Given the description of an element on the screen output the (x, y) to click on. 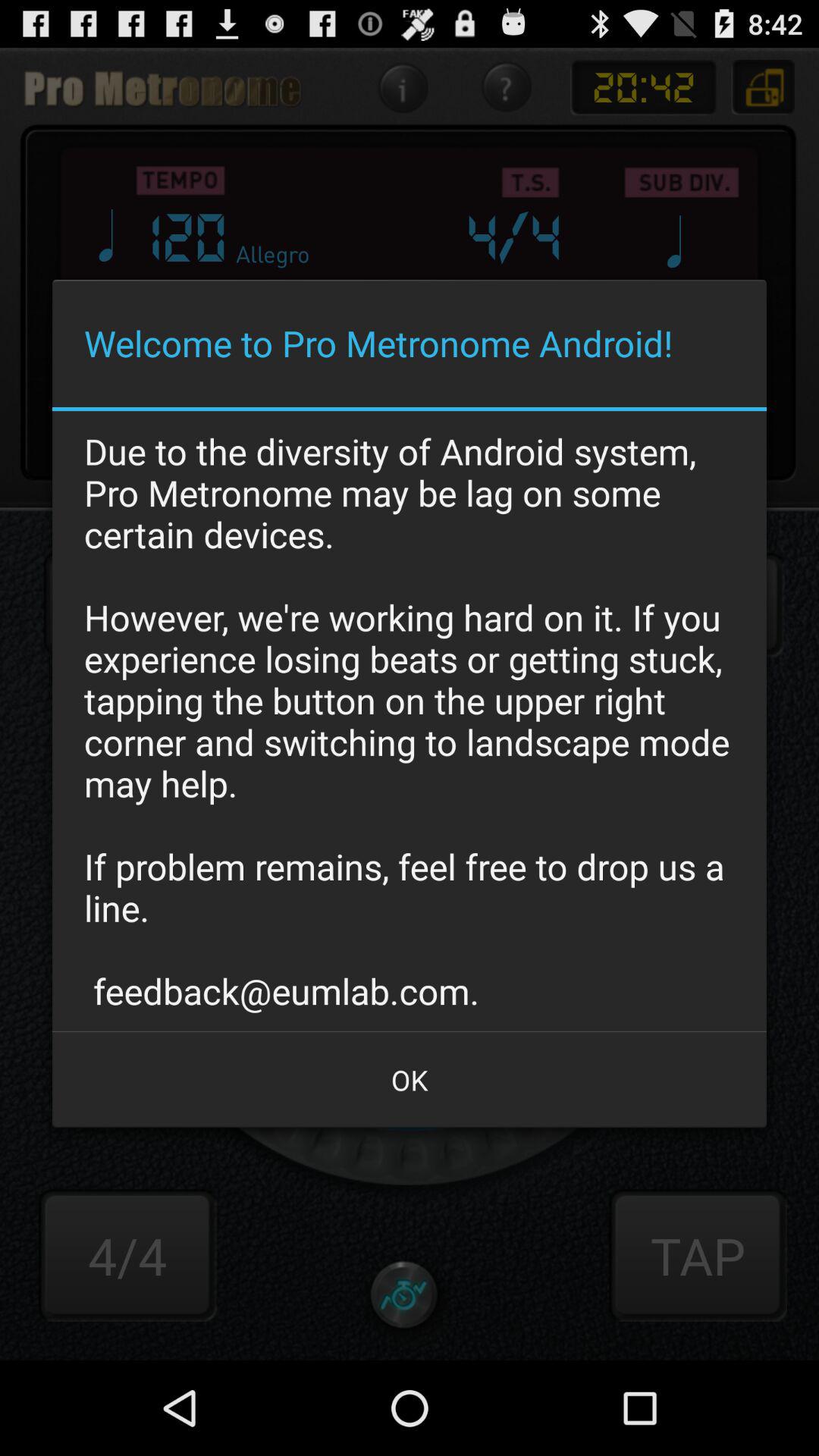
click the item at the bottom (409, 1079)
